Given the description of an element on the screen output the (x, y) to click on. 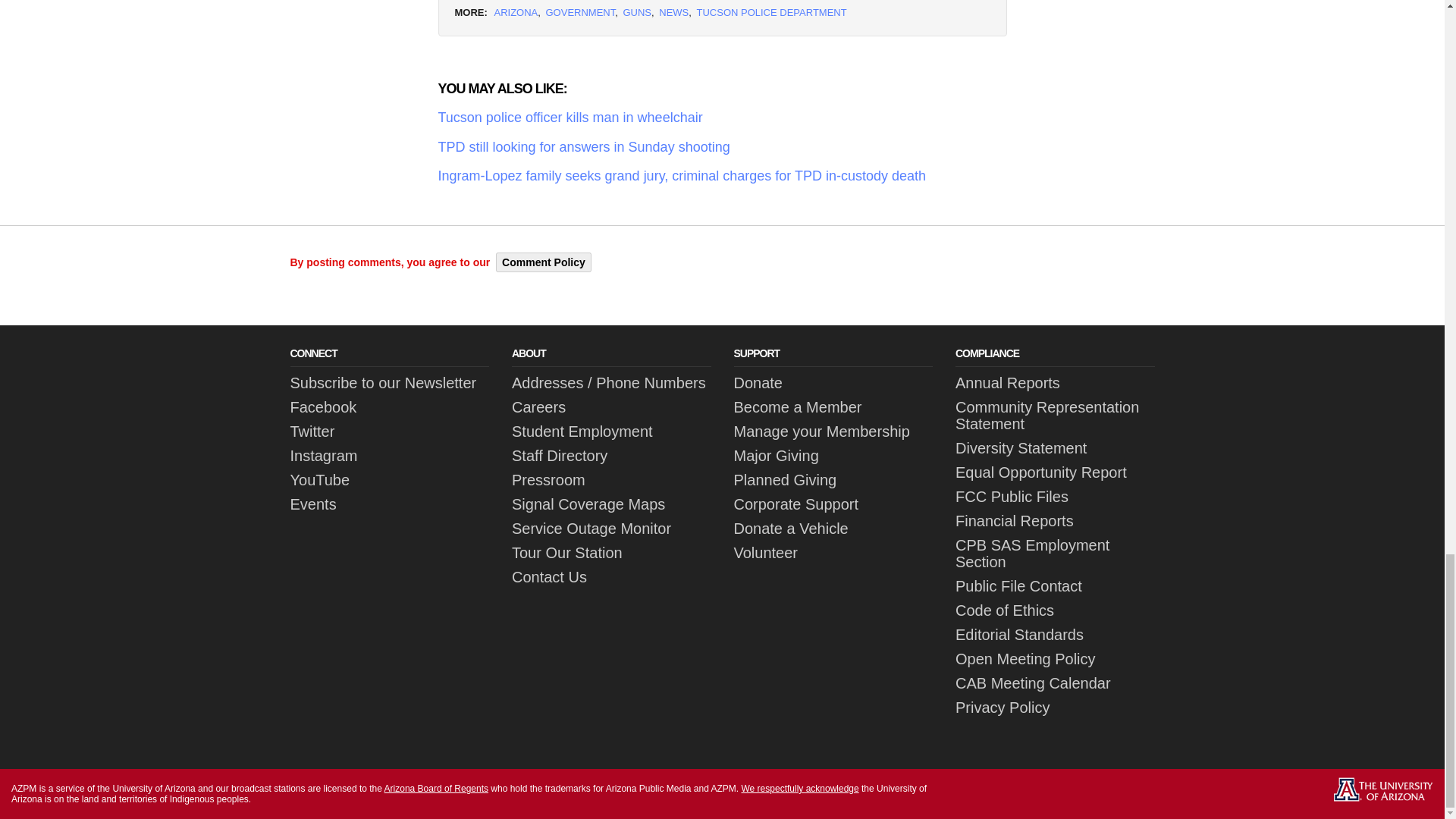
TPD still looking for answers in Sunday shooting (722, 147)
Tucson police officer kills man in wheelchair (722, 117)
